Given the description of an element on the screen output the (x, y) to click on. 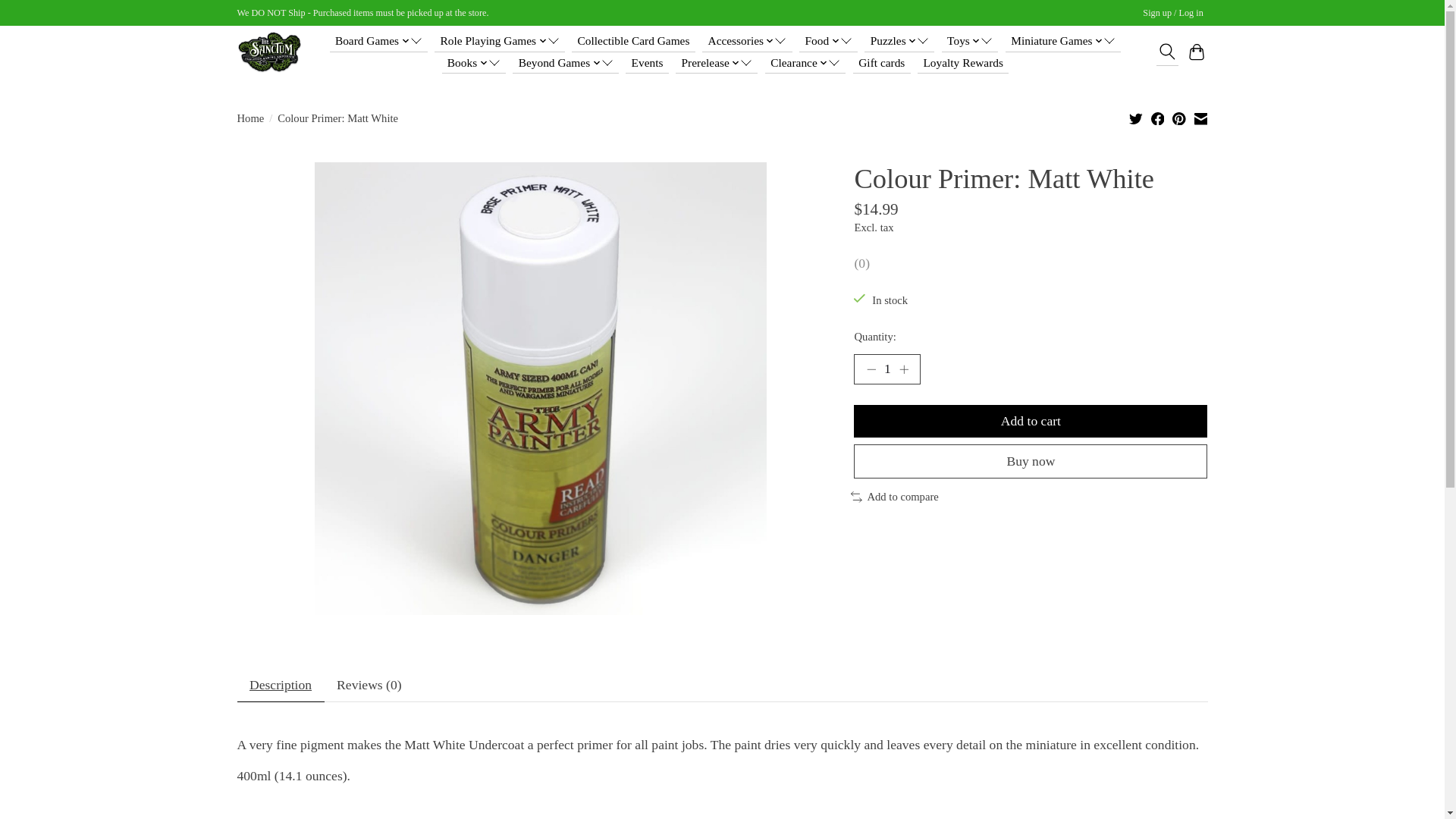
My account (1173, 13)
Role Playing Games (498, 40)
Accessories (746, 40)
Board Games (379, 40)
Sanctum Games (268, 51)
Collectible Card Games (633, 40)
1 (886, 368)
